Given the description of an element on the screen output the (x, y) to click on. 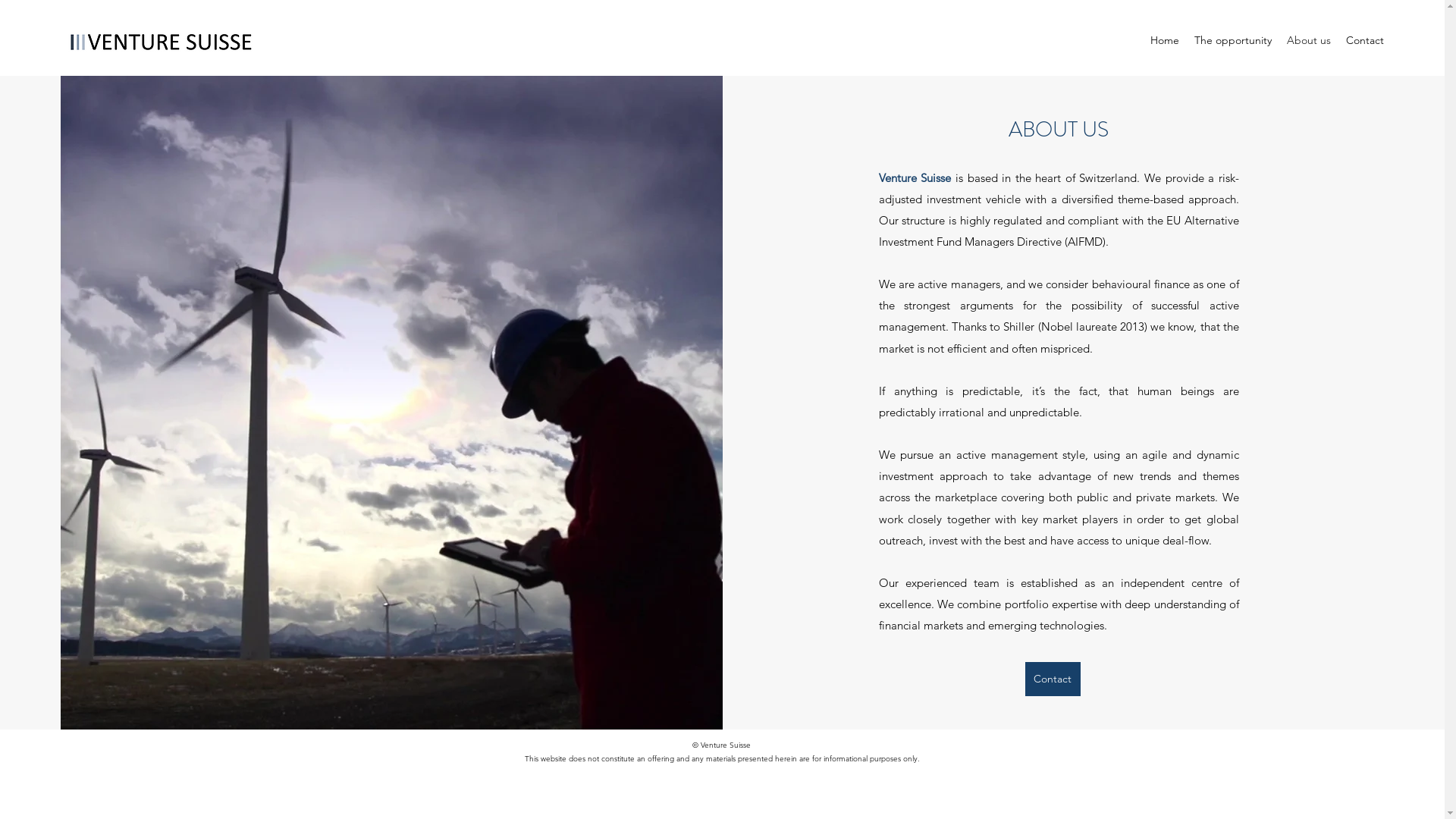
Contact Element type: text (1052, 679)
Contact Element type: text (1364, 39)
The opportunity Element type: text (1232, 39)
Home Element type: text (1164, 39)
About us Element type: text (1308, 39)
